Given the description of an element on the screen output the (x, y) to click on. 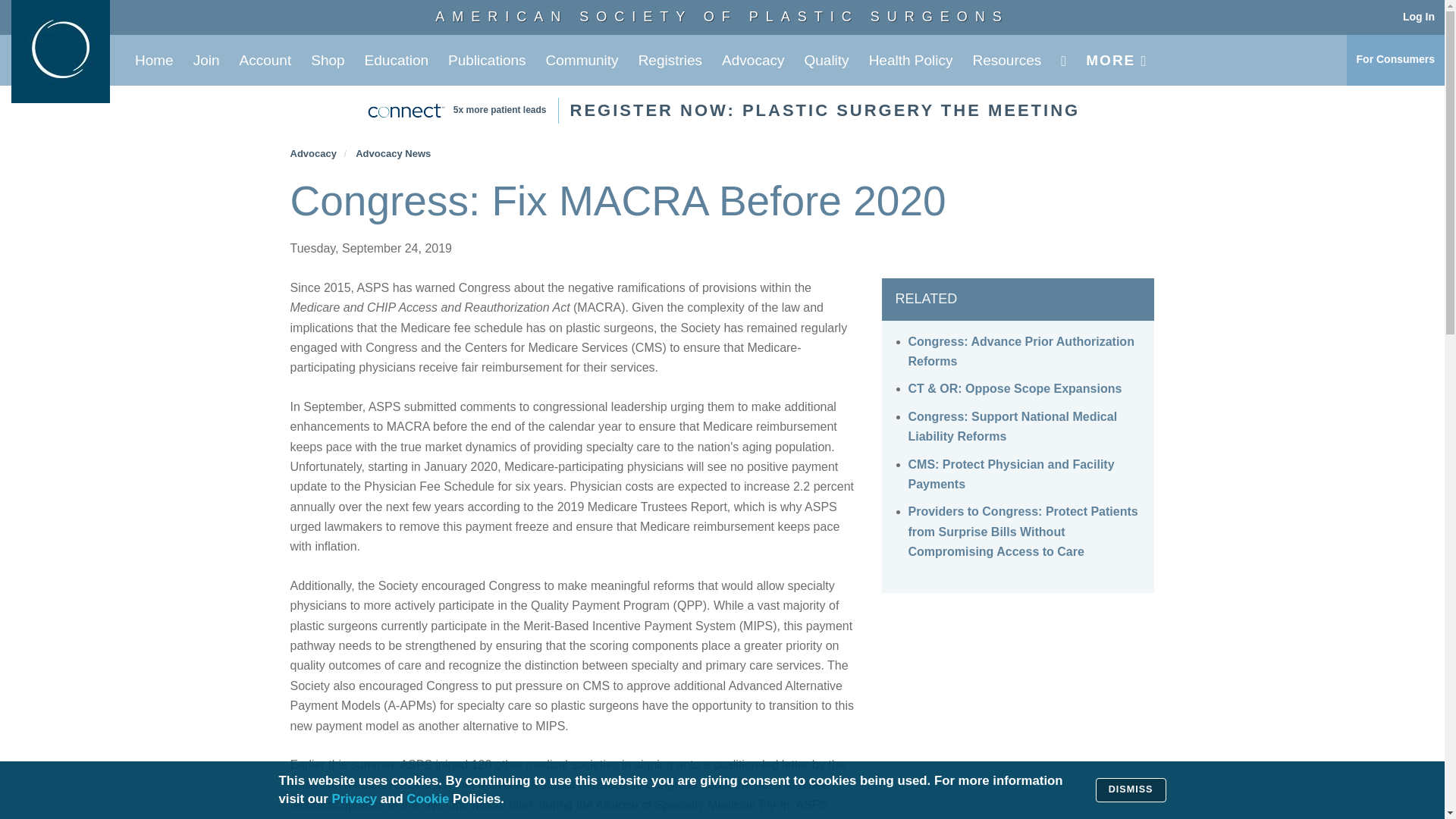
Advocacy (752, 60)
Shop (327, 60)
Community (722, 16)
5x more patient leads (581, 60)
REGISTER NOW: PLASTIC SURGERY THE MEETING (499, 110)
Join (825, 109)
Health Policy (206, 60)
Resources (910, 60)
MORE (1006, 60)
